Given the description of an element on the screen output the (x, y) to click on. 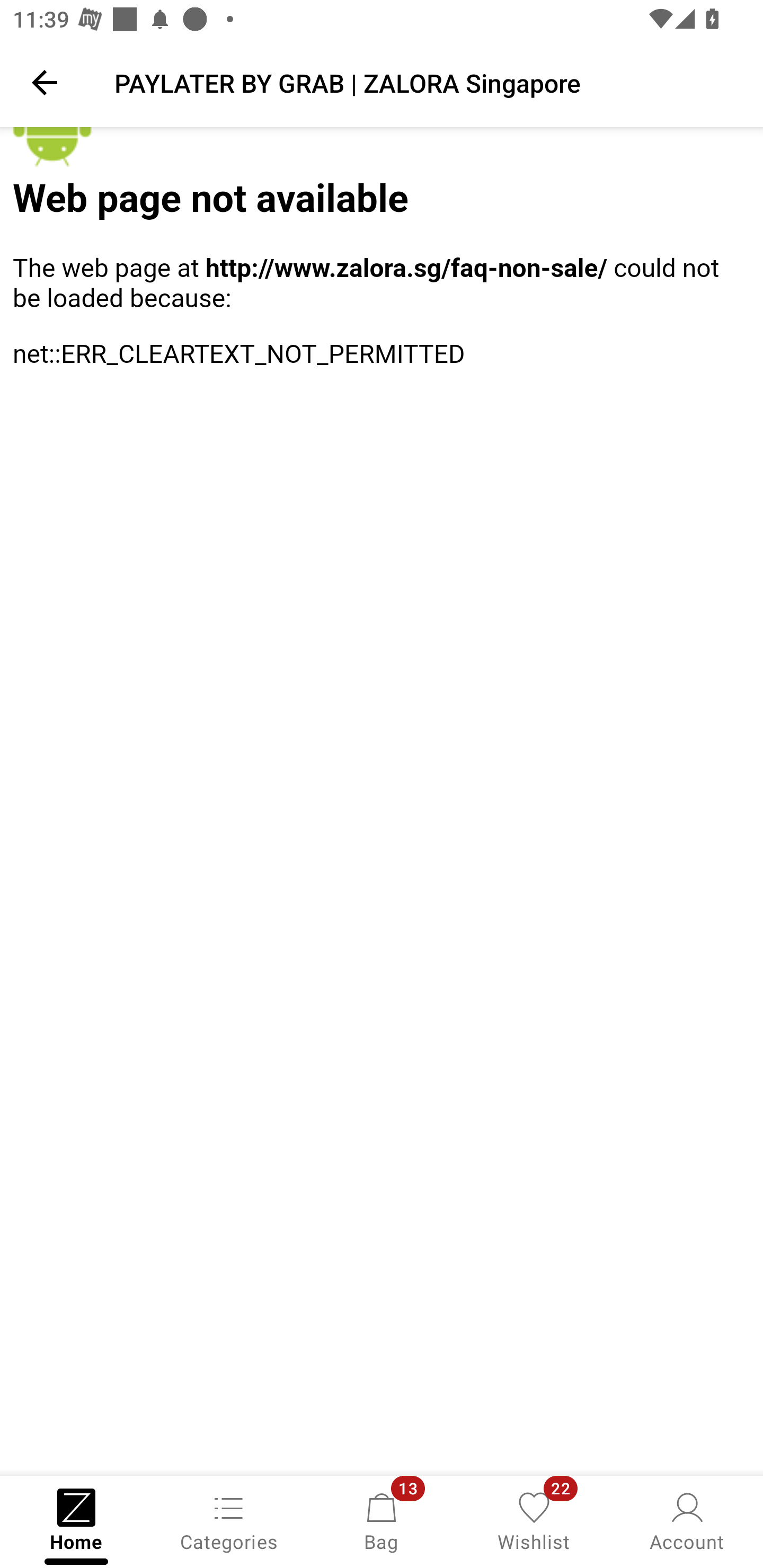
Navigate up (44, 82)
PAYLATER BY GRAB | ZALORA Singapore (426, 82)
Categories (228, 1519)
Bag, 13 new notifications Bag (381, 1519)
Wishlist, 22 new notifications Wishlist (533, 1519)
Account (686, 1519)
